Given the description of an element on the screen output the (x, y) to click on. 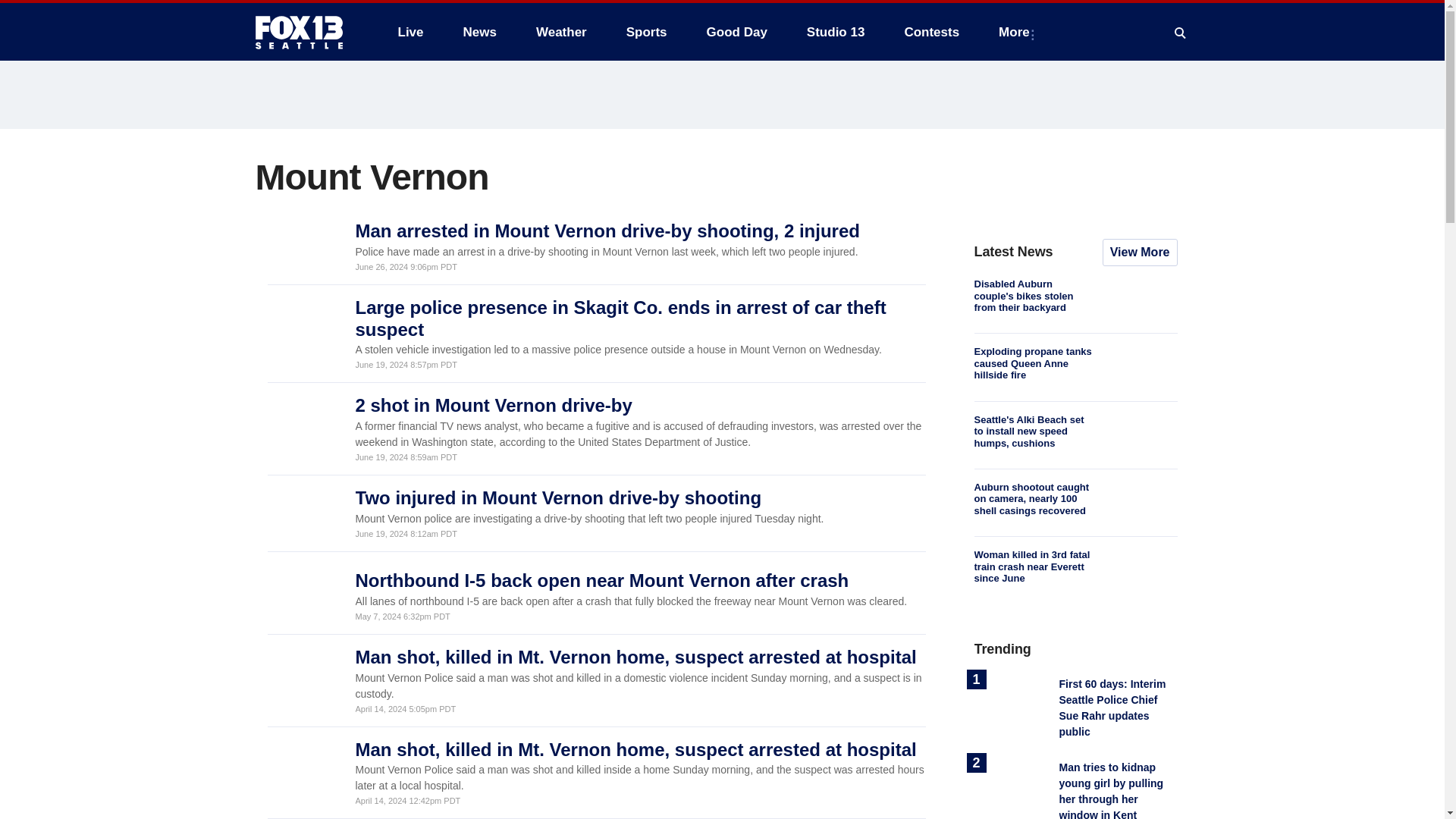
More (1017, 32)
Sports (646, 32)
Studio 13 (835, 32)
Live (410, 32)
Weather (561, 32)
News (479, 32)
Contests (931, 32)
Good Day (736, 32)
